Given the description of an element on the screen output the (x, y) to click on. 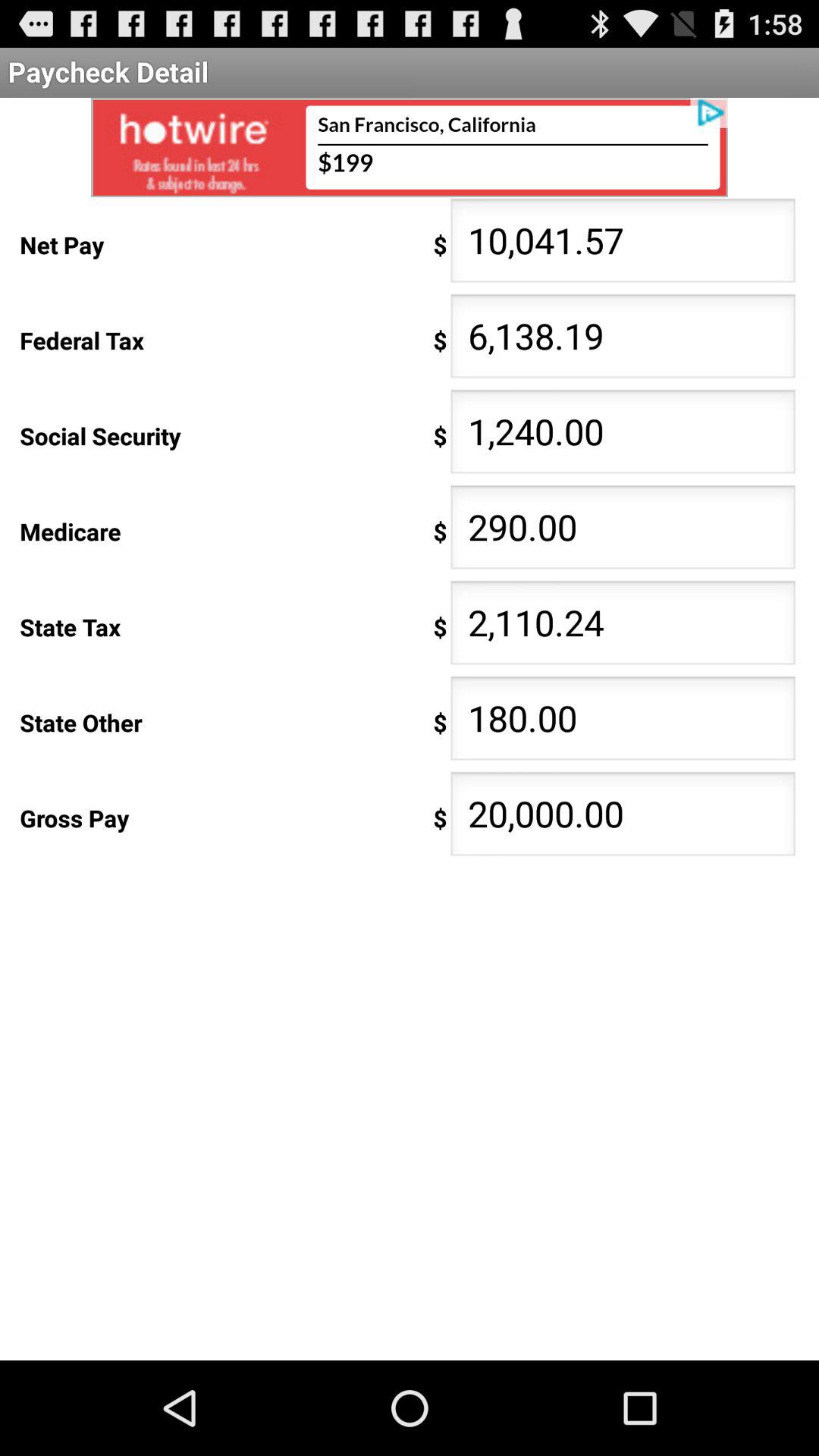
advertisement (409, 147)
